Given the description of an element on the screen output the (x, y) to click on. 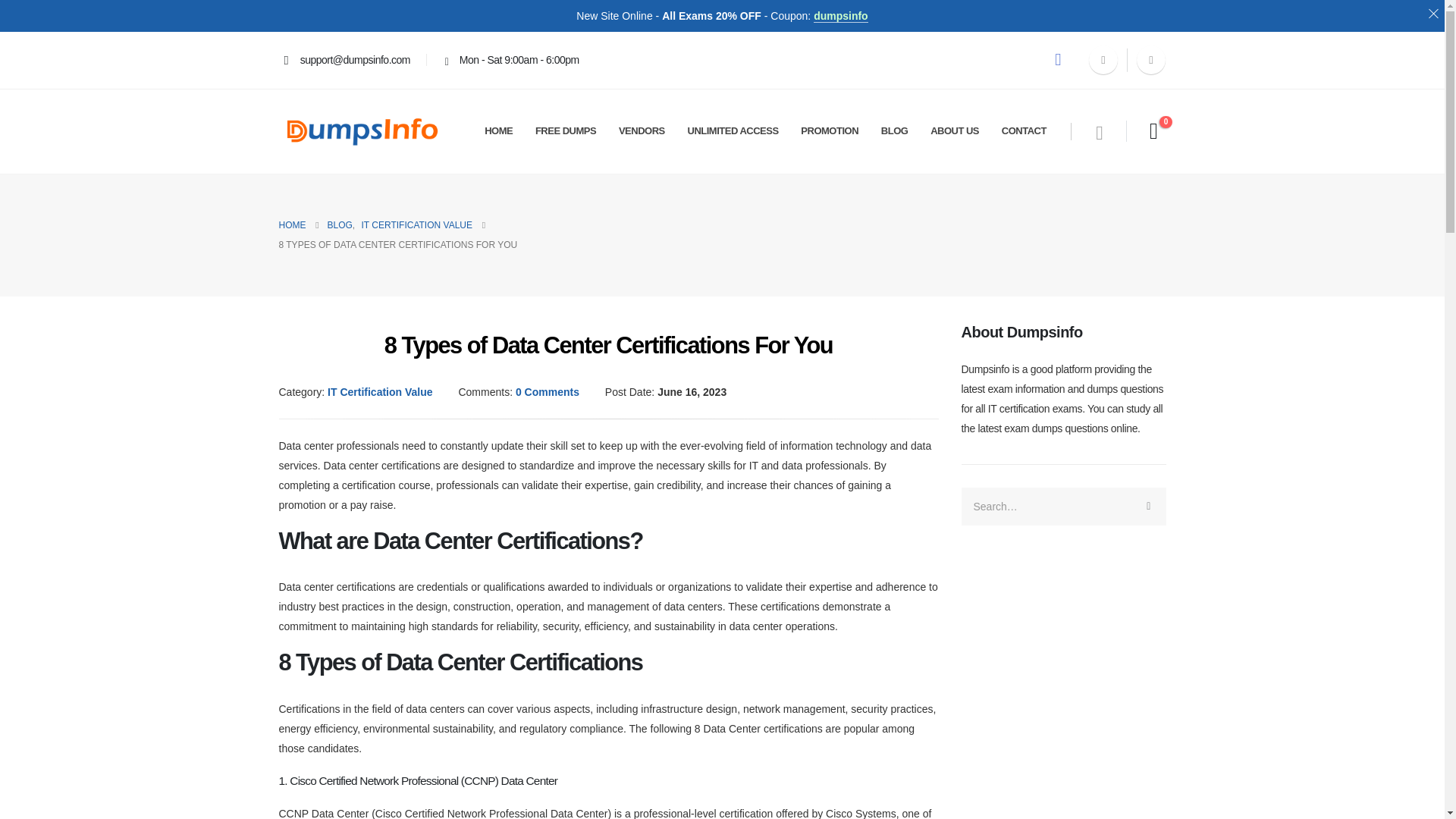
Facebook (1103, 59)
Youtube (1151, 59)
UNLIMITED ACCESS (733, 130)
FREE DUMPS (565, 130)
IT Certification Value (379, 391)
HOME (292, 225)
BLOG (339, 225)
0 Comments (547, 391)
Mon - Sat 9:00am - 6:00pm (508, 59)
Go to Home Page (292, 225)
PROMOTION (829, 130)
IT CERTIFICATION VALUE (416, 225)
Dumpsinfo.com - Just another WordPress site (362, 131)
0 Comments (547, 391)
